Given the description of an element on the screen output the (x, y) to click on. 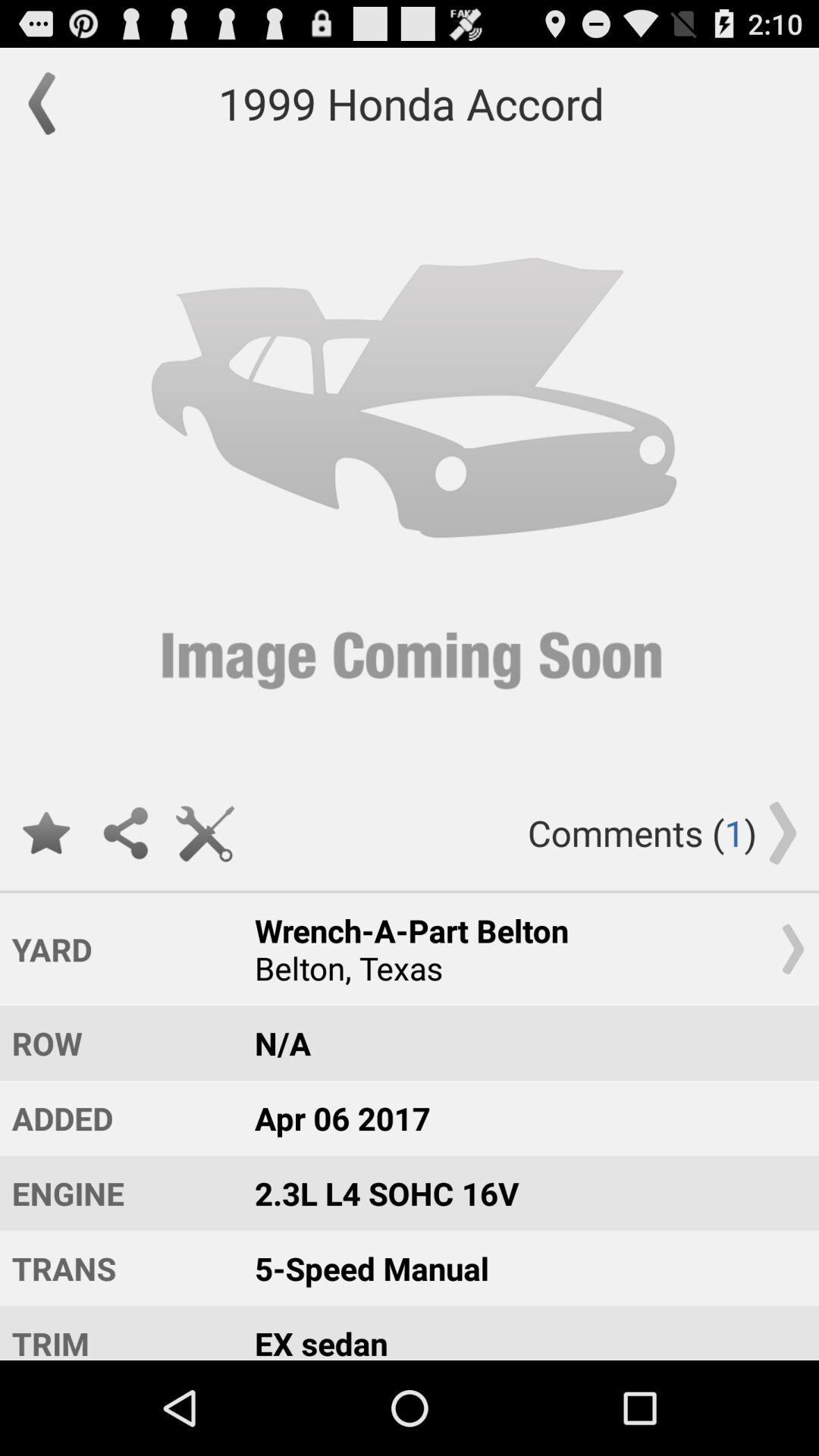
tap icon next to the comments (1) app (205, 833)
